Given the description of an element on the screen output the (x, y) to click on. 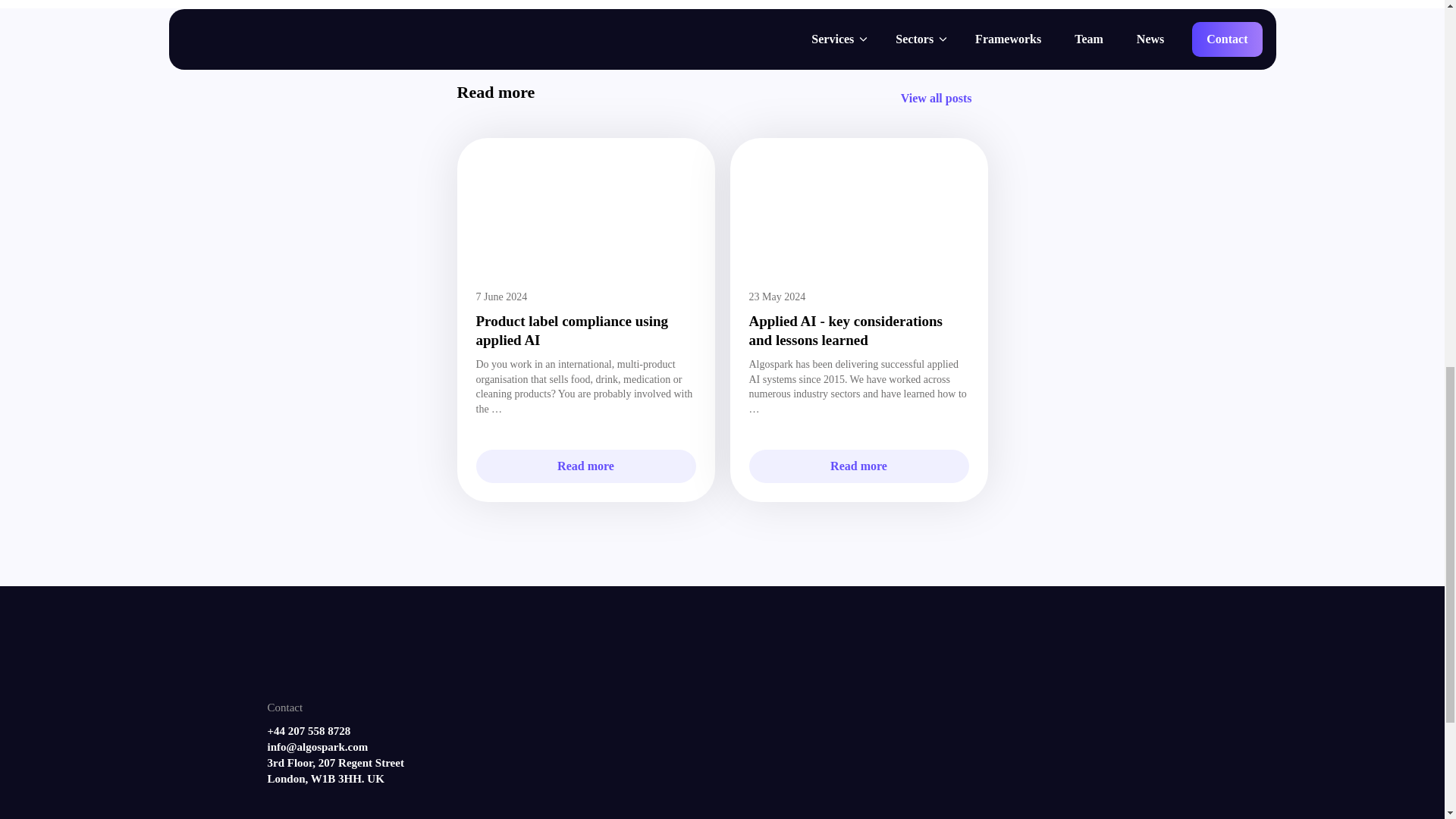
Read more (859, 466)
View all posts (936, 98)
Read more (585, 466)
Product label compliance using applied AI (572, 330)
Applied AI - key considerations and lessons learned (845, 330)
